Given the description of an element on the screen output the (x, y) to click on. 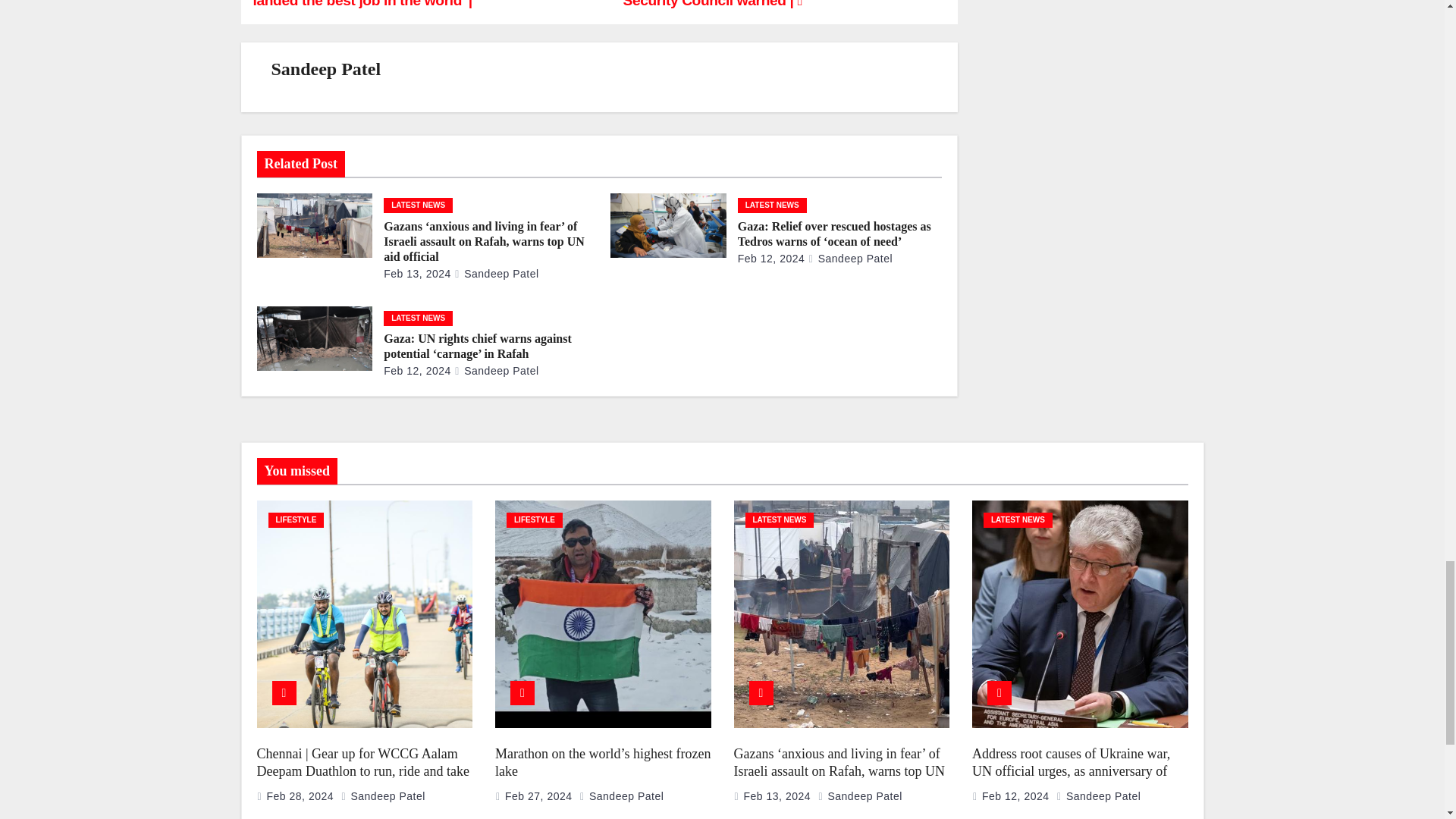
Sandeep Patel (325, 68)
